Given the description of an element on the screen output the (x, y) to click on. 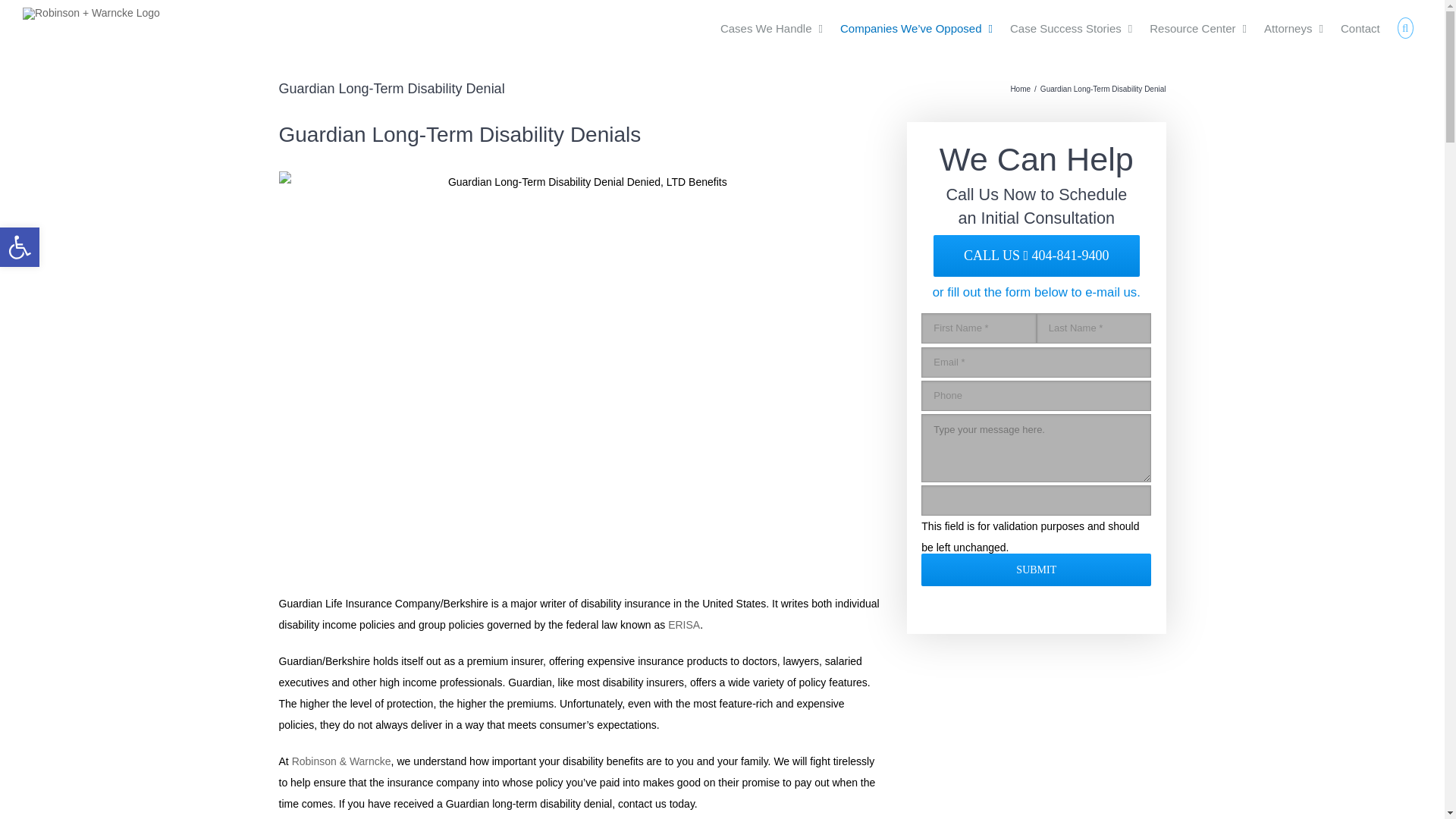
Accessibility Tools (19, 246)
Submit (1036, 569)
Cases We Handle (771, 28)
